Given the description of an element on the screen output the (x, y) to click on. 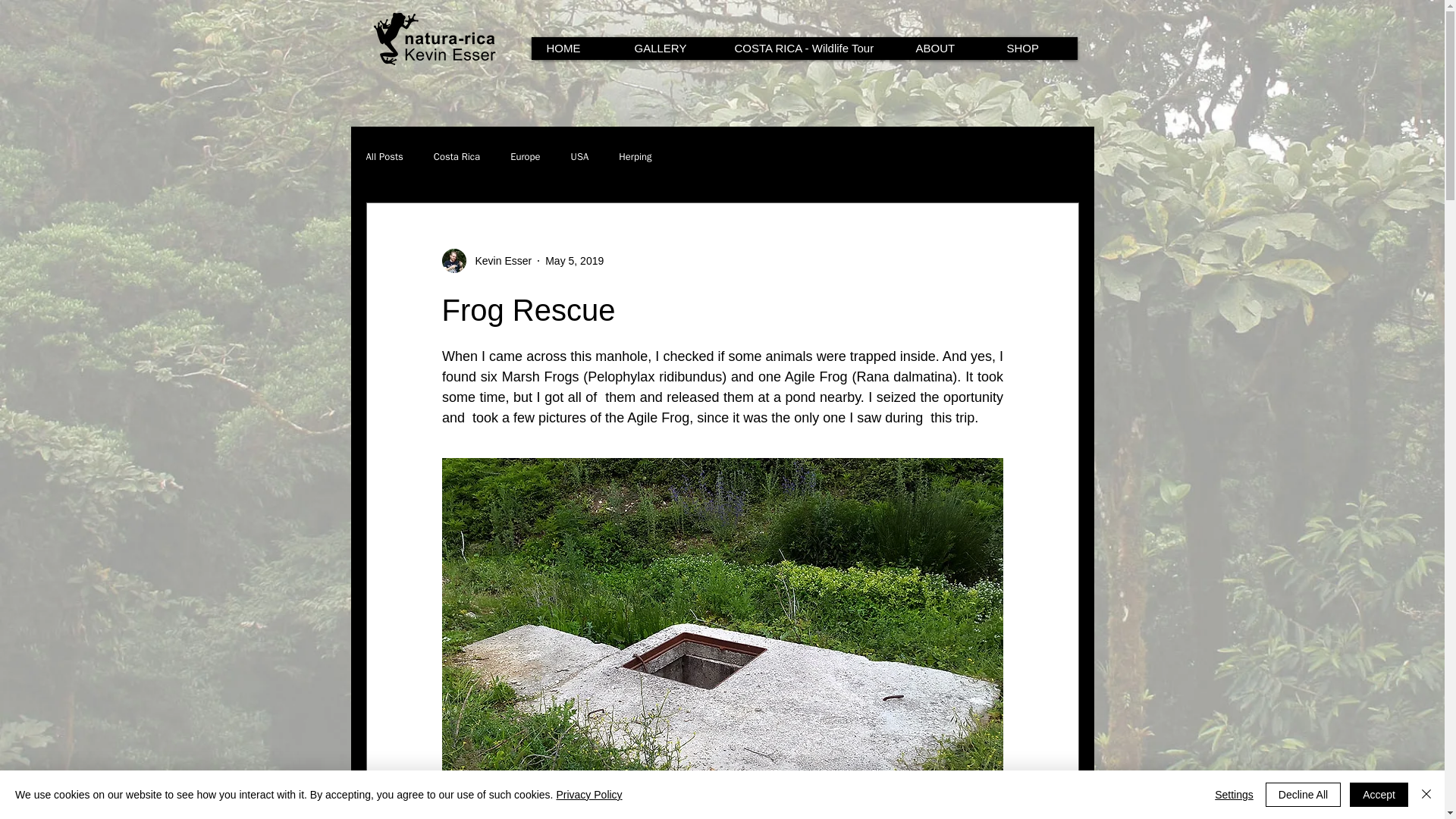
Decline All (1302, 794)
HOME (574, 47)
Herping (634, 156)
Kevin Esser (498, 261)
COSTA RICA - Wildlife Tour (809, 47)
Accept (1378, 794)
SHOP (1033, 47)
Costa Rica (456, 156)
USA (579, 156)
Privacy Policy (588, 794)
